Given the description of an element on the screen output the (x, y) to click on. 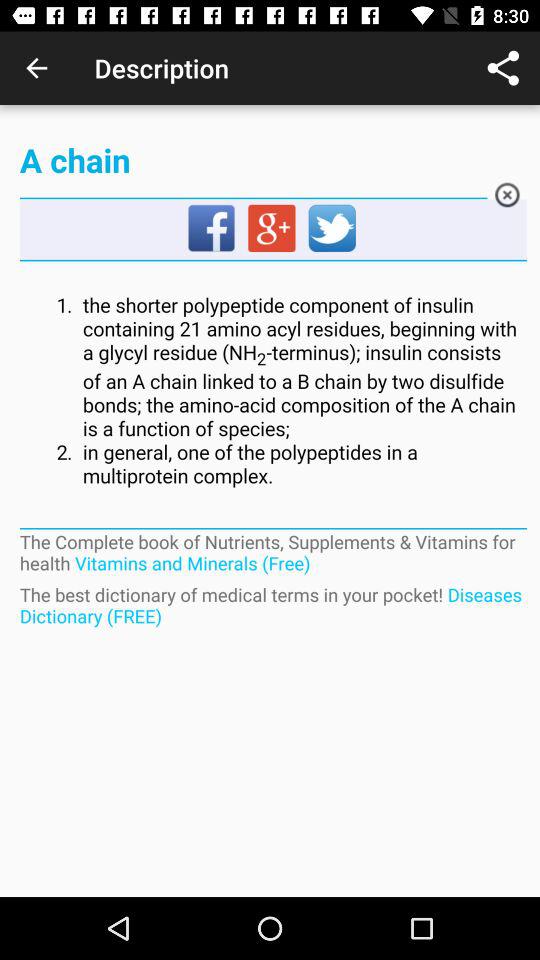
share to facebook (212, 229)
